Given the description of an element on the screen output the (x, y) to click on. 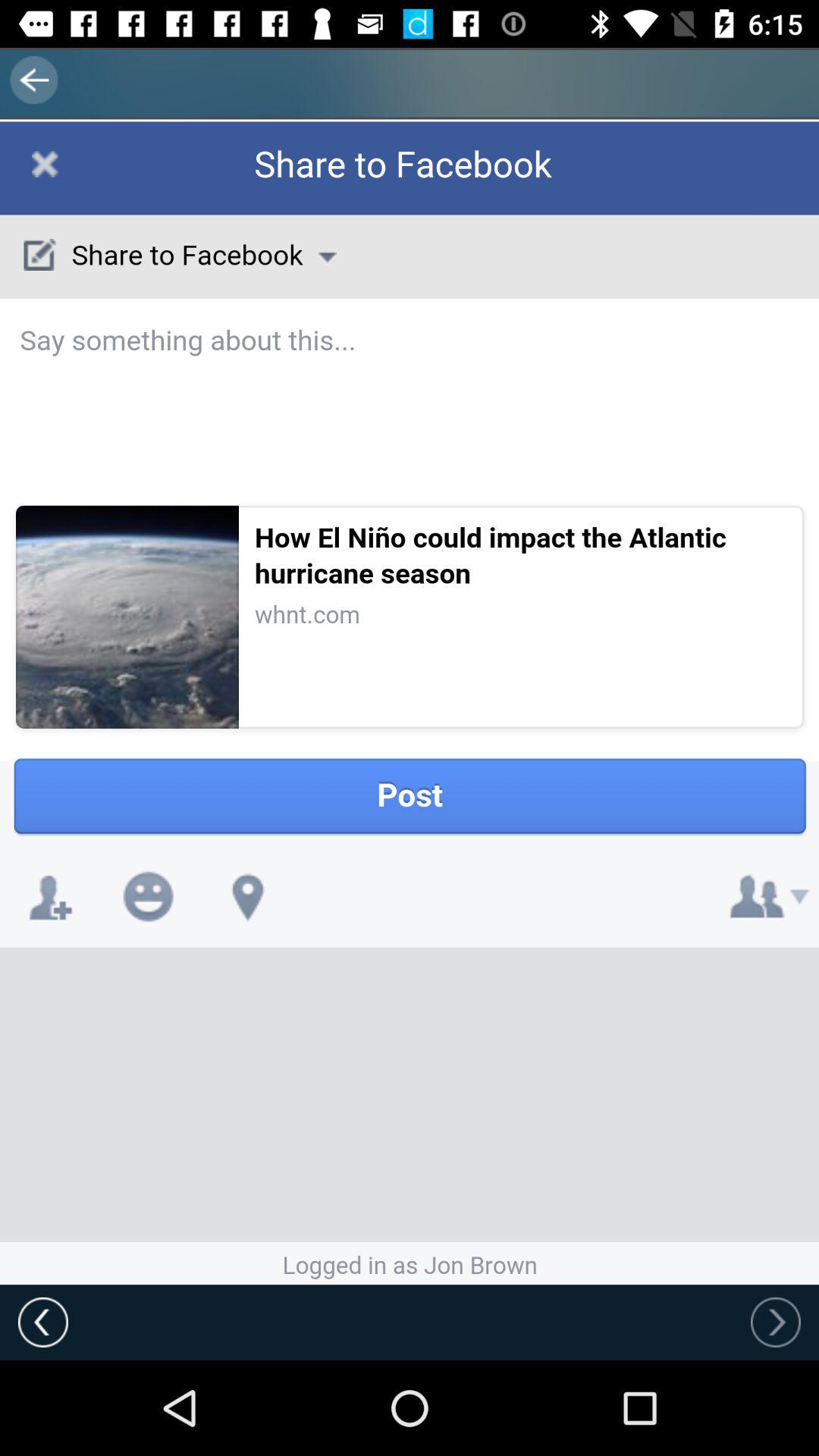
go to next (775, 1322)
